Given the description of an element on the screen output the (x, y) to click on. 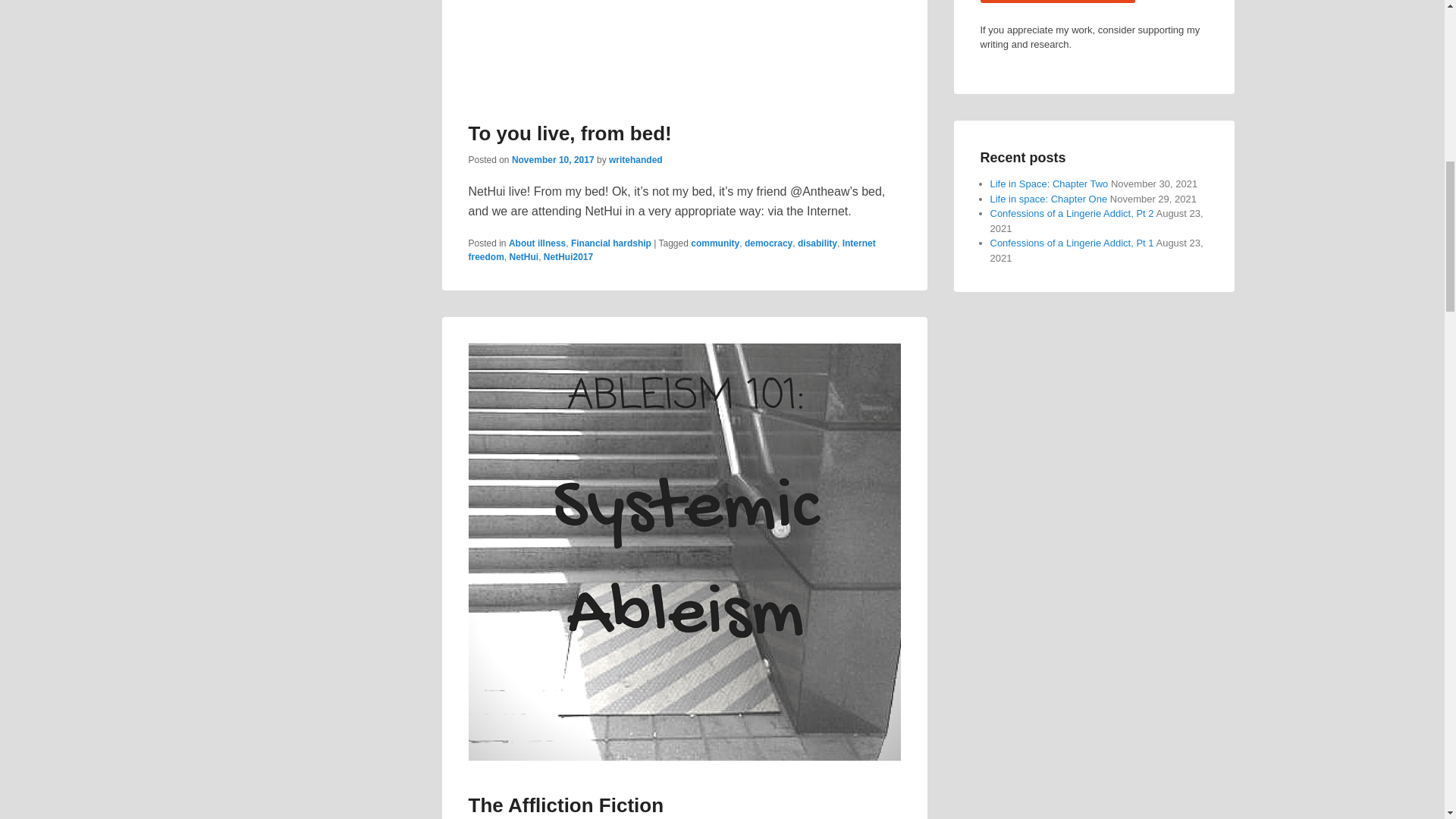
View all posts by writehanded (635, 159)
About illness (537, 243)
Permalink to To you live, from bed! (569, 133)
10:09 am (553, 159)
democracy (768, 243)
Internet freedom (672, 250)
NetHui2017 (567, 256)
Financial hardship (610, 243)
disability (817, 243)
The Affliction Fiction (565, 804)
